Given the description of an element on the screen output the (x, y) to click on. 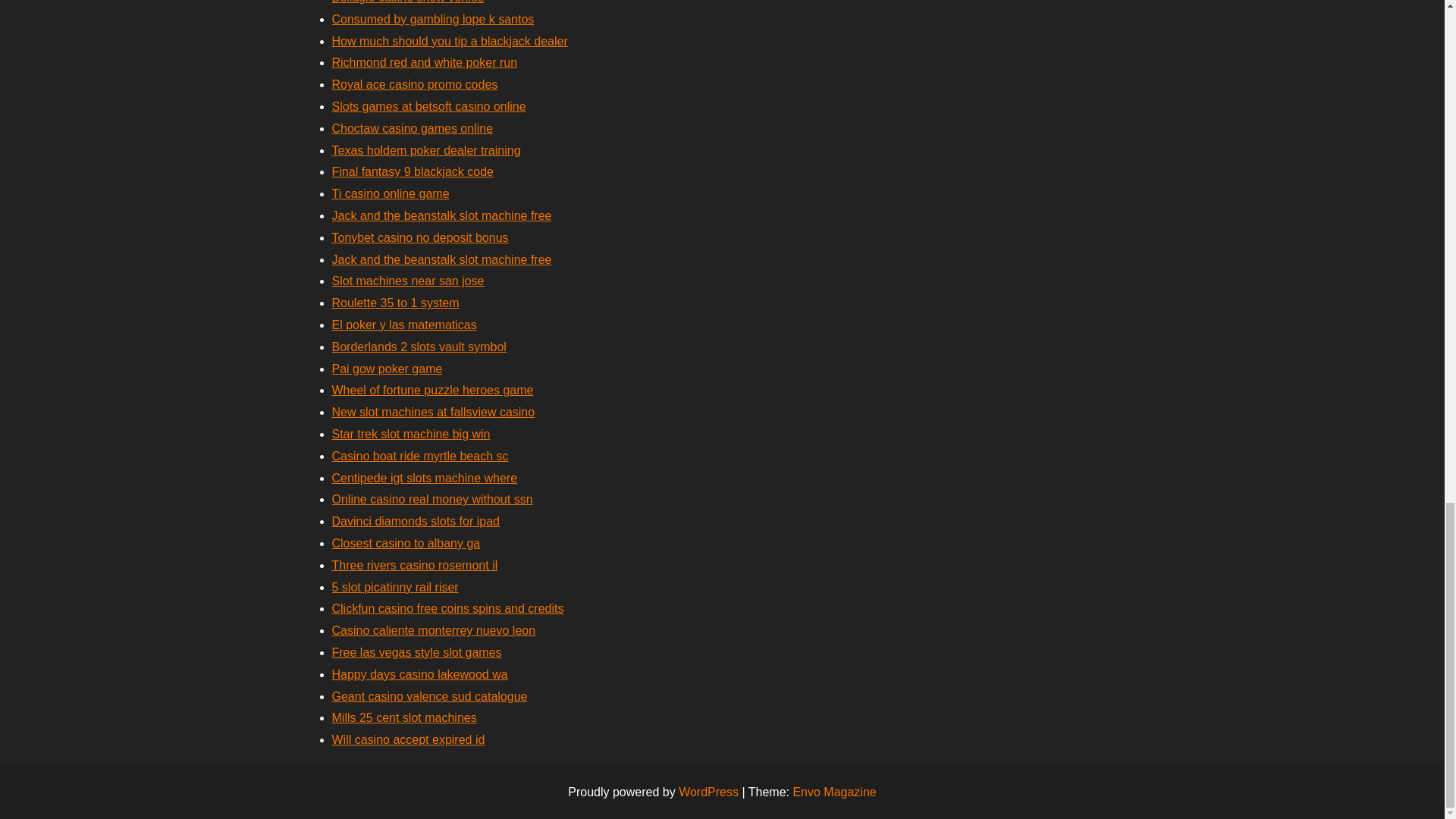
How much should you tip a blackjack dealer (449, 41)
Bellagio casino show veniue (407, 2)
Casino boat ride myrtle beach sc (419, 455)
Wheel of fortune puzzle heroes game (432, 390)
Online casino real money without ssn (431, 499)
Davinci diamonds slots for ipad (415, 521)
Centipede igt slots machine where (424, 477)
5 slot picatinny rail riser (394, 586)
Slot machines near san jose (407, 280)
Pai gow poker game (386, 368)
